Given the description of an element on the screen output the (x, y) to click on. 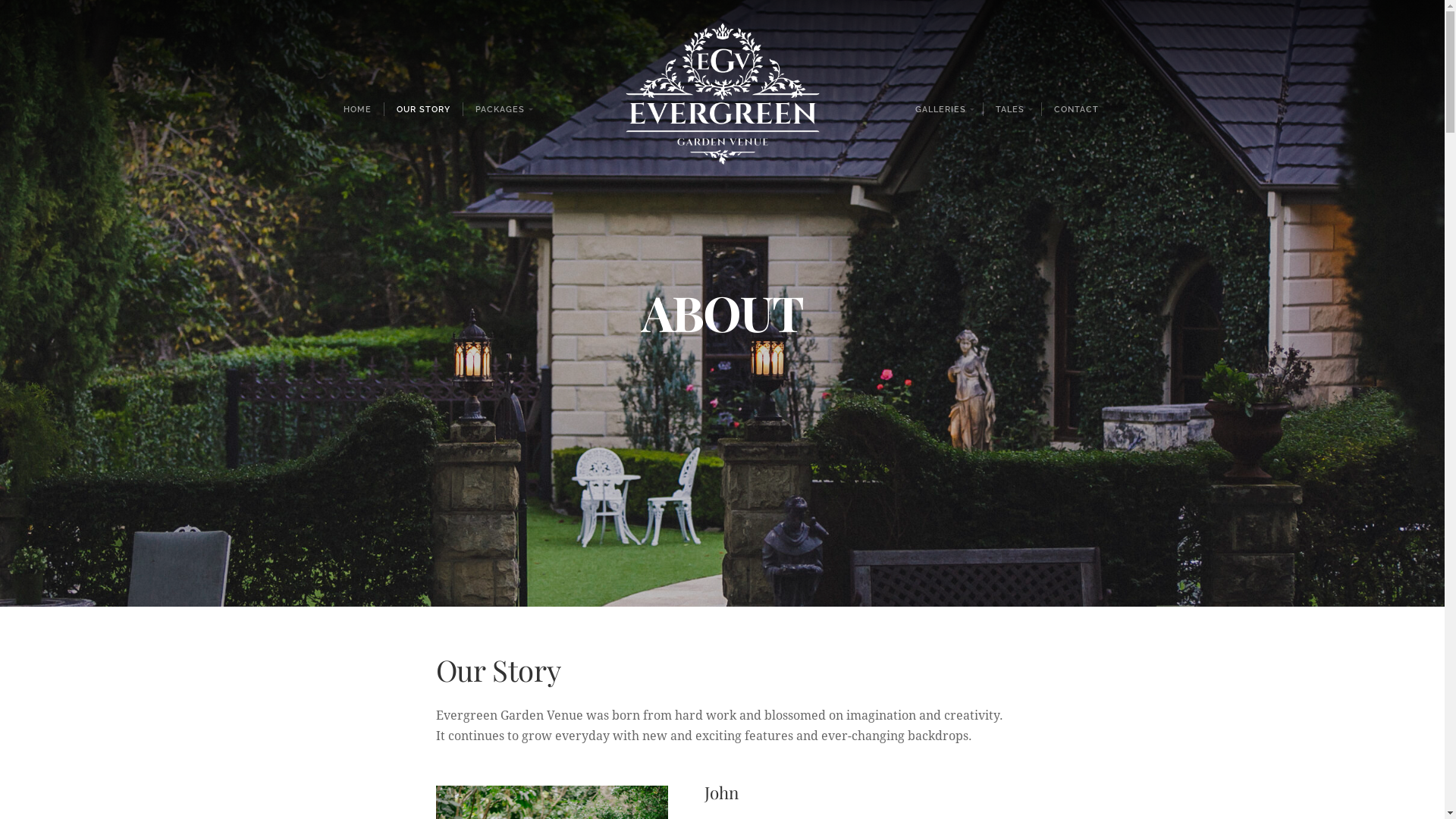
PACKAGES Element type: text (501, 109)
OUR STORY Element type: text (422, 109)
HOME Element type: text (357, 109)
Wedding venue Gold Coast -Evergreen Garden Venue Element type: text (721, 109)
CONTACT Element type: text (1075, 109)
GALLERIES Element type: text (942, 109)
TALES Element type: text (1011, 109)
